Given the description of an element on the screen output the (x, y) to click on. 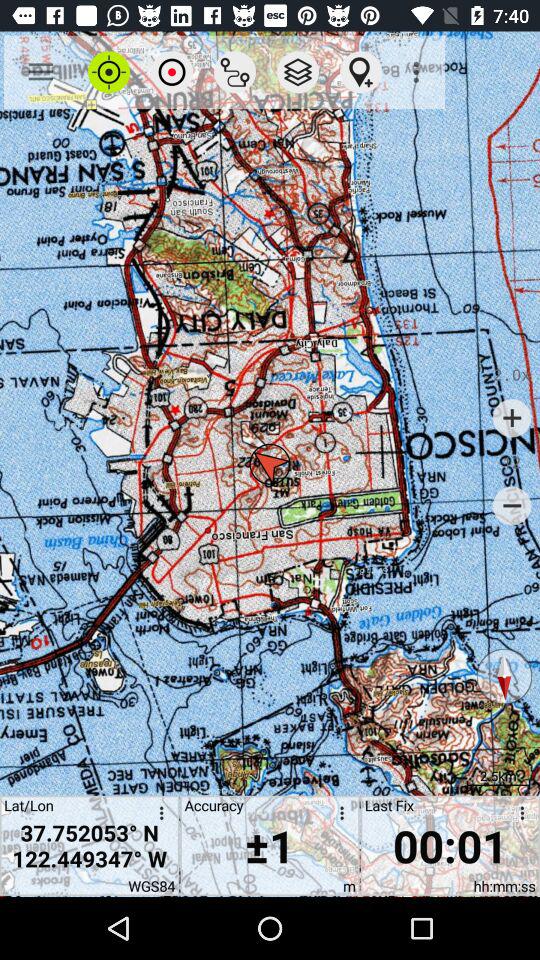
go to options (158, 816)
